Given the description of an element on the screen output the (x, y) to click on. 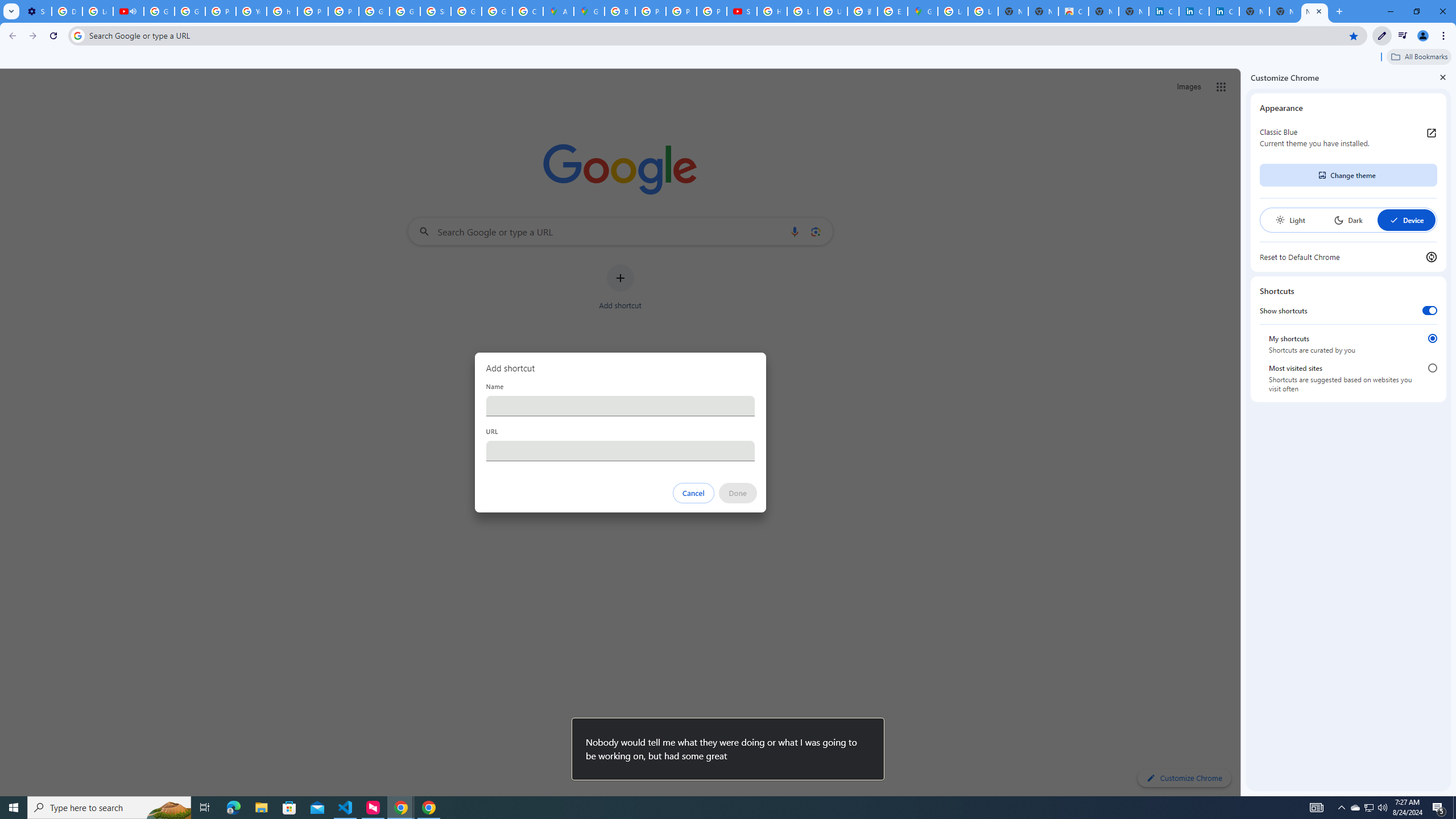
Device (1406, 219)
Explore new street-level details - Google Maps Help (892, 11)
How Chrome protects your passwords - Google Chrome Help (771, 11)
Copyright Policy (1224, 11)
Control your music, videos, and more (1402, 35)
